Given the description of an element on the screen output the (x, y) to click on. 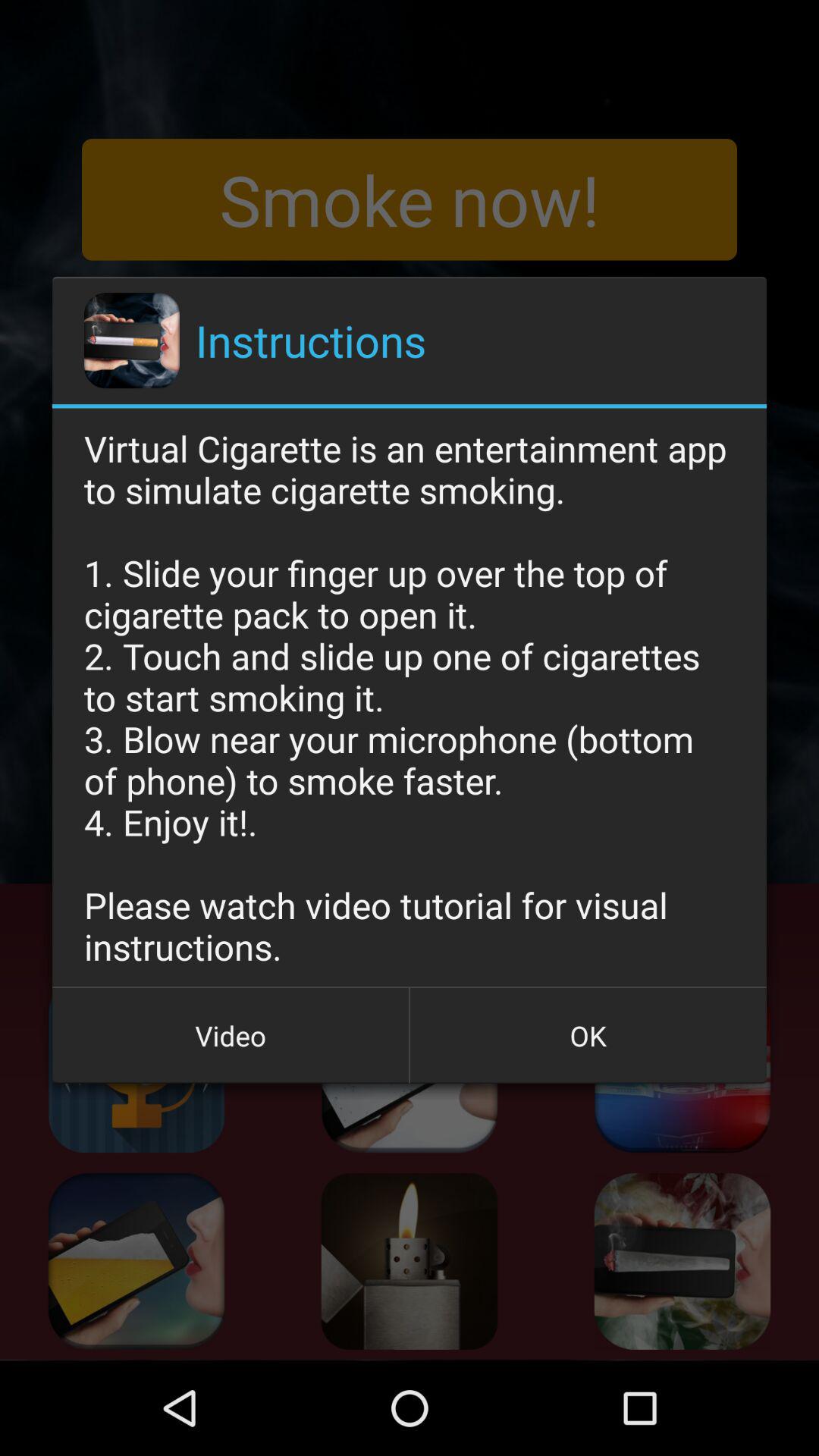
turn off item to the left of the ok button (230, 1035)
